Given the description of an element on the screen output the (x, y) to click on. 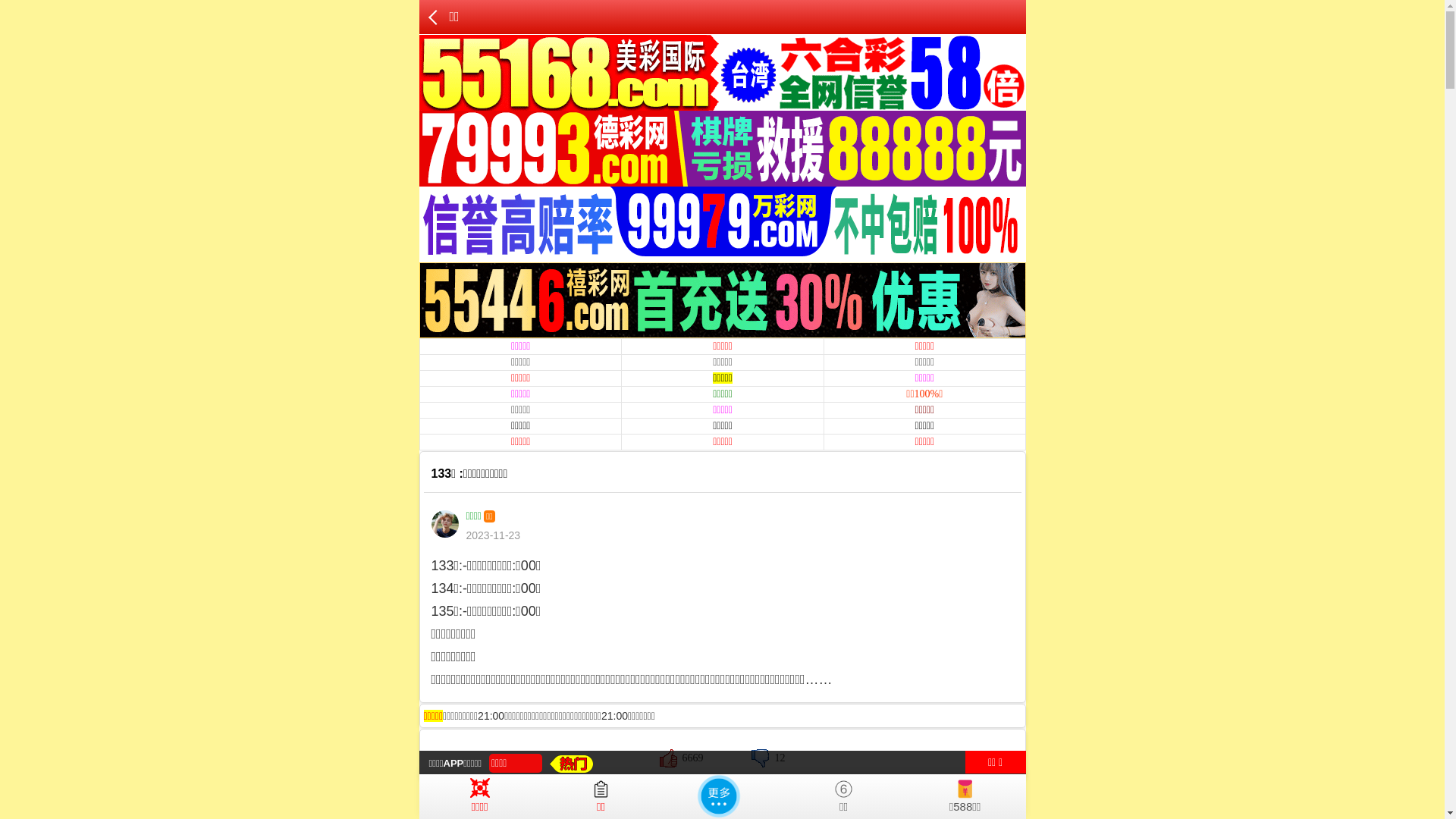
12 Element type: text (767, 757)
6669 Element type: text (681, 757)
